Given the description of an element on the screen output the (x, y) to click on. 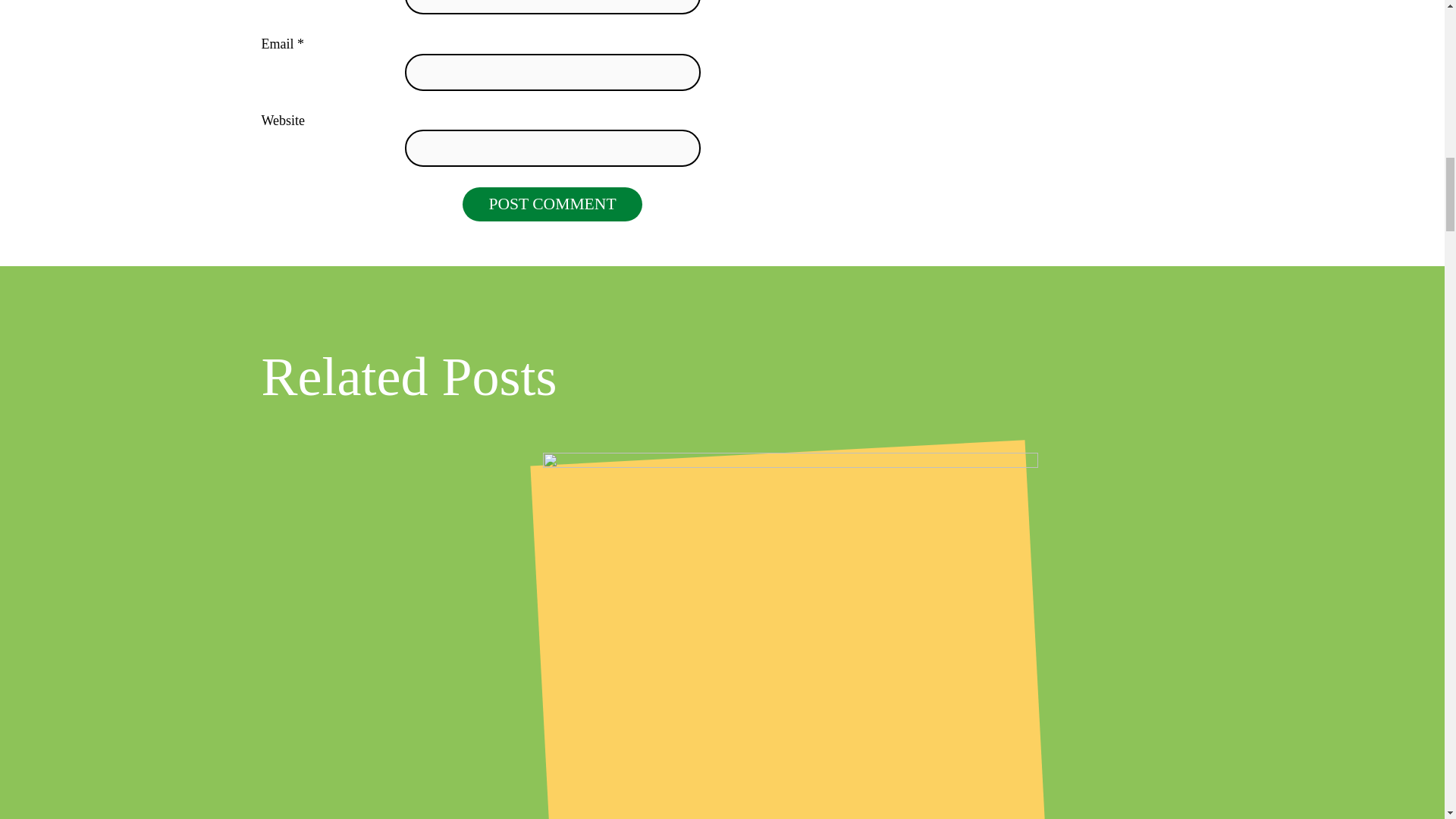
Post Comment (552, 204)
